Given the description of an element on the screen output the (x, y) to click on. 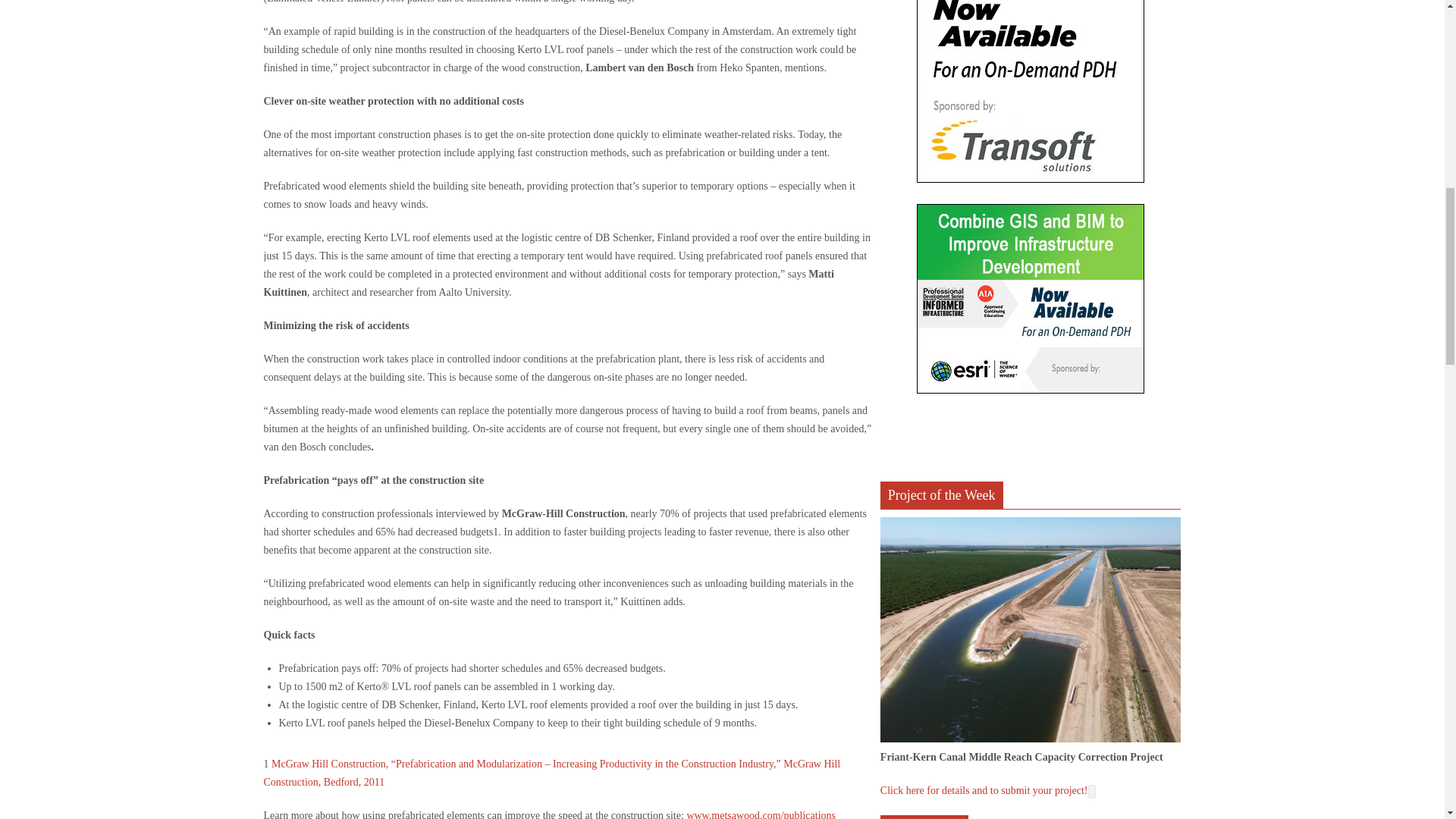
Transoft Solutions (1030, 91)
ESRI (1030, 298)
